Given the description of an element on the screen output the (x, y) to click on. 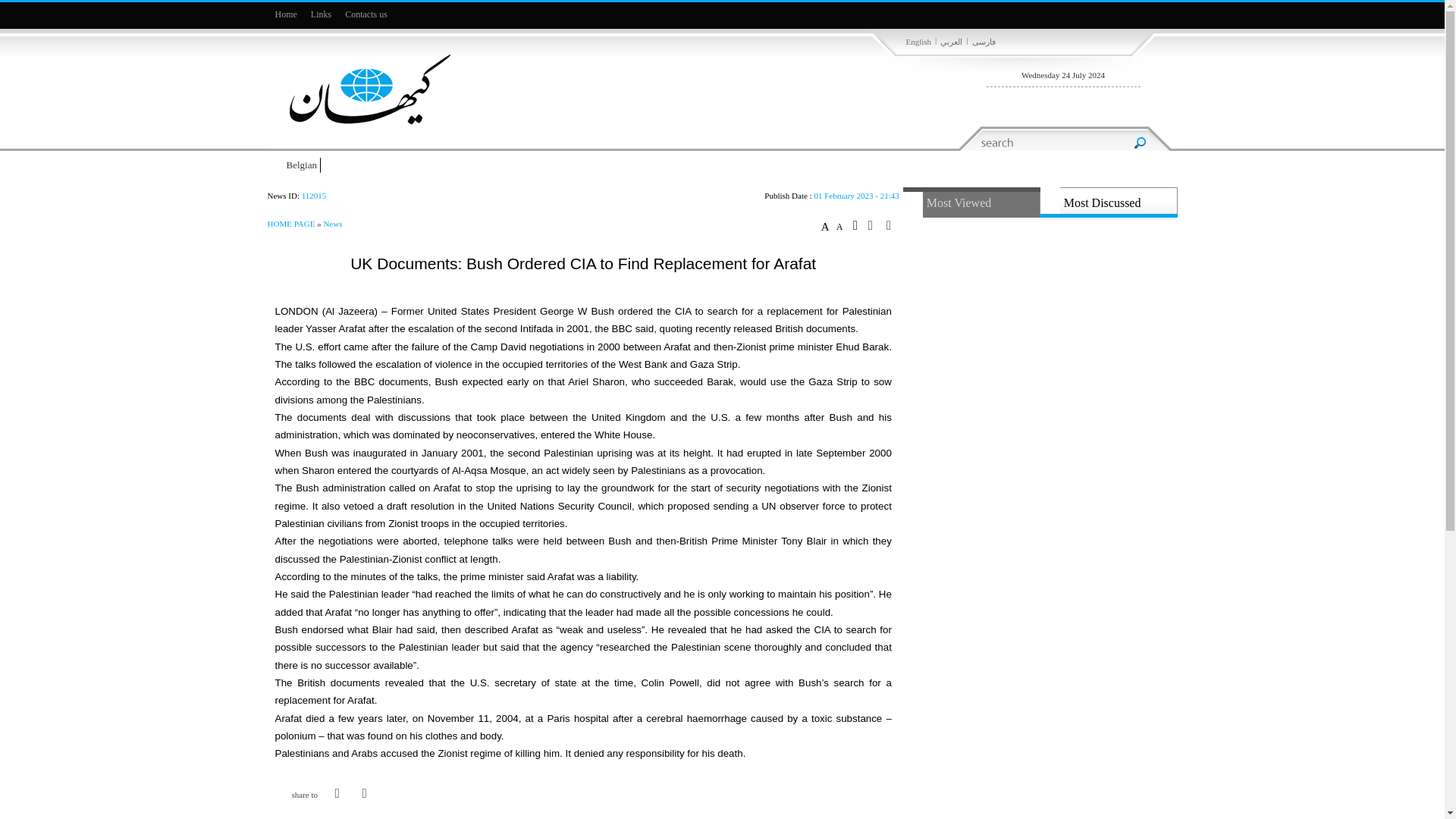
Home (284, 14)
English (918, 41)
Links (320, 14)
Contacts us (366, 14)
Save (858, 224)
HOME PAGE (291, 223)
A (827, 226)
share to (298, 794)
Email (364, 807)
A (841, 226)
Comments (336, 807)
Send to friends (364, 807)
share to (298, 795)
Most Discussed (1109, 202)
Send to friends (874, 225)
